Given the description of an element on the screen output the (x, y) to click on. 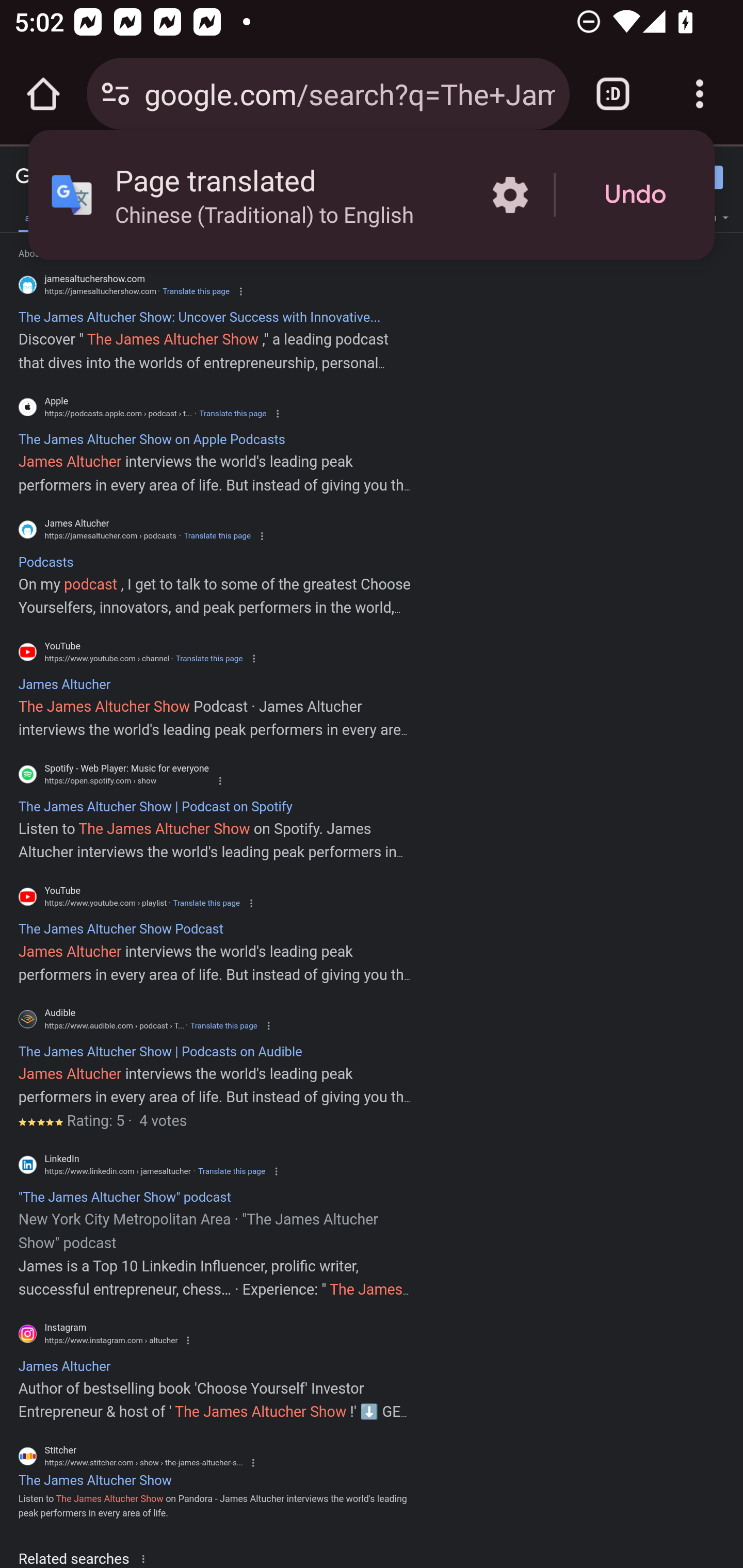
Open the home page (43, 93)
Connection is secure (115, 93)
Switch or close tabs (612, 93)
Customize and control Google Chrome (699, 93)
Undo (634, 195)
More options in the Page translated (509, 195)
Translate this page (195, 291)
Translate this page (232, 413)
Translate this page (217, 535)
Translate this page (208, 658)
Translate this page (206, 902)
Translate this page (223, 1025)
Translate this page (231, 1171)
About this result (146, 1557)
